Given the description of an element on the screen output the (x, y) to click on. 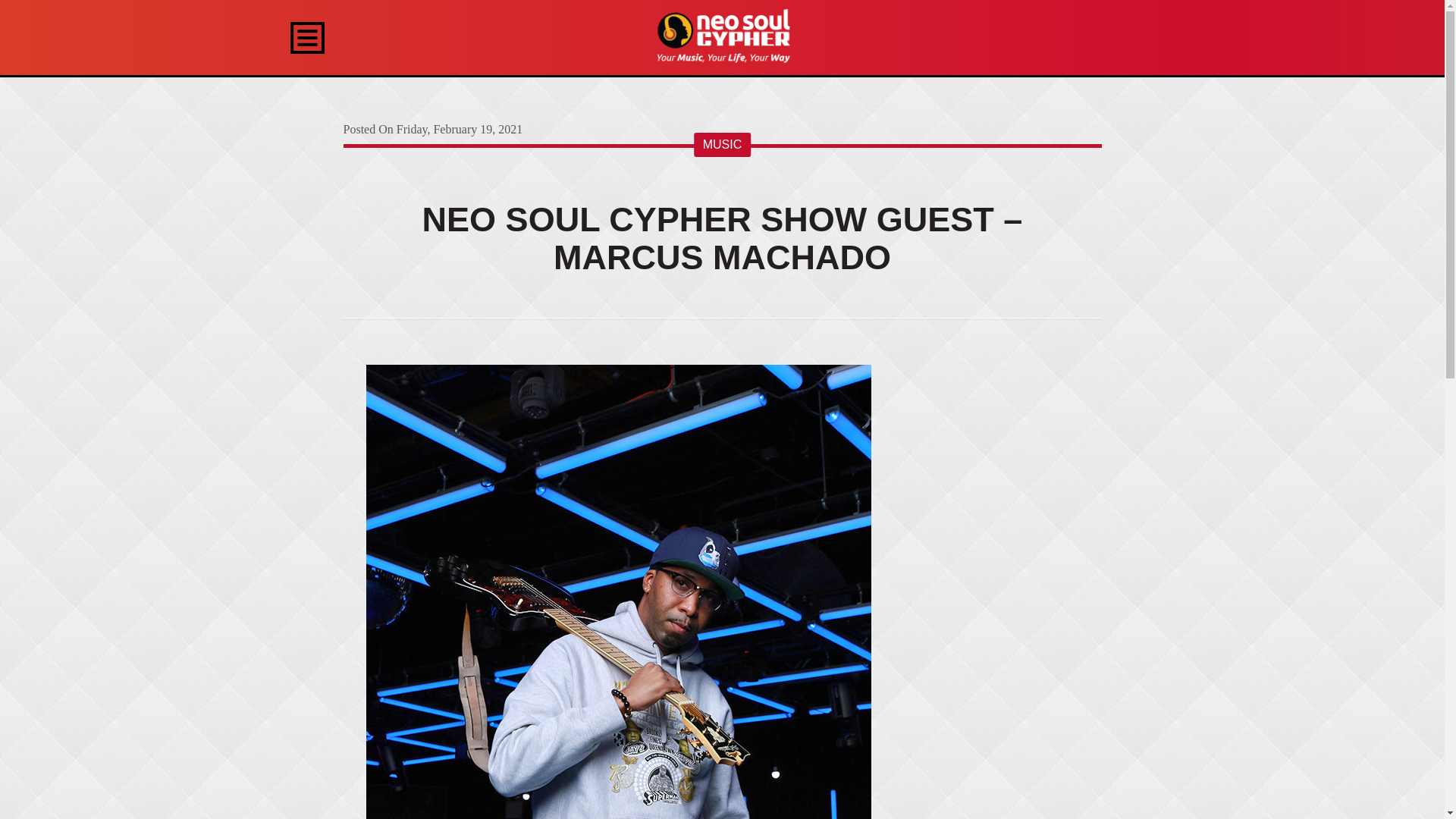
Neo Soul Cypher (722, 35)
MUSIC (722, 144)
